Given the description of an element on the screen output the (x, y) to click on. 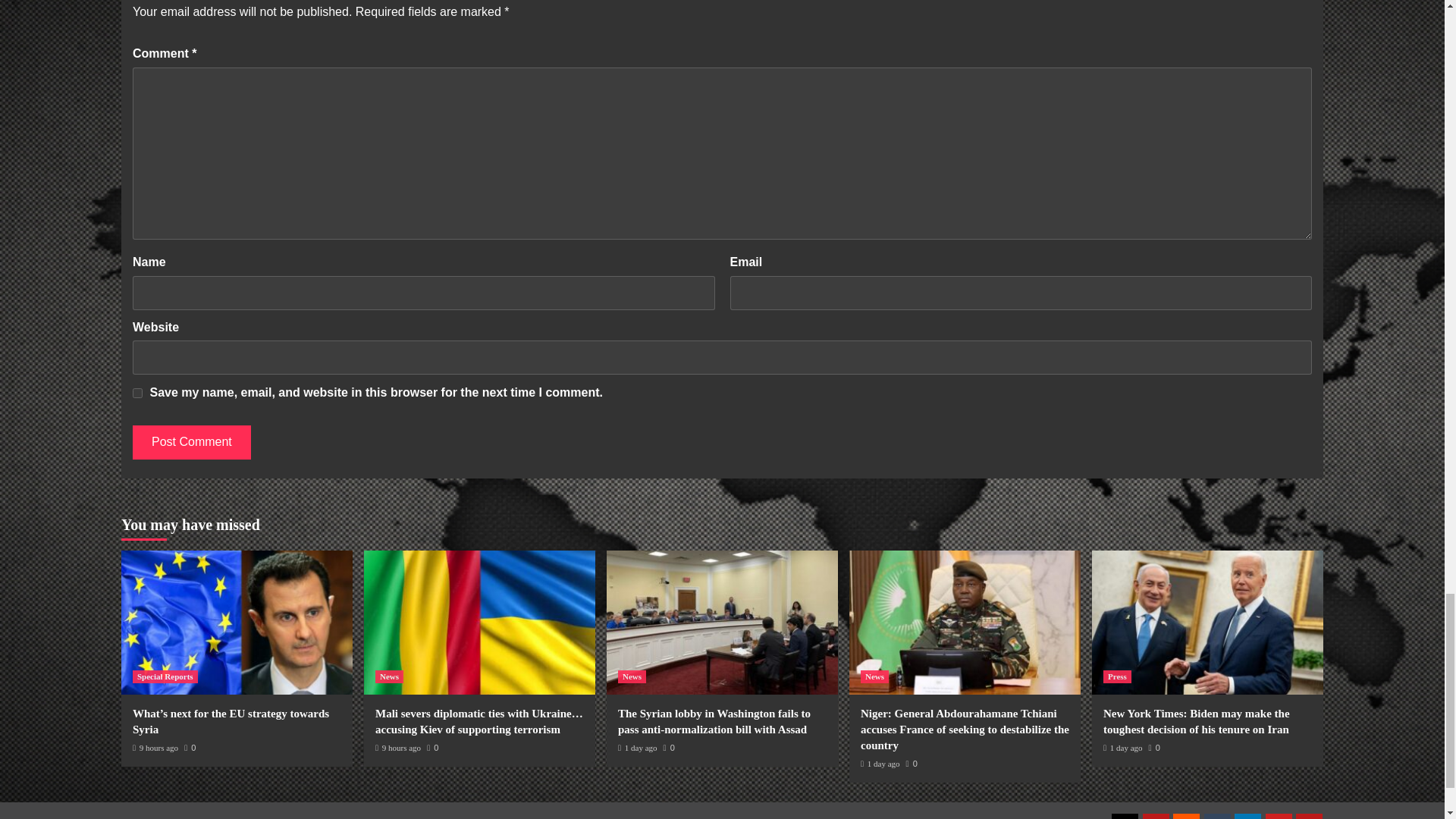
Post Comment (191, 442)
yes (137, 393)
